Given the description of an element on the screen output the (x, y) to click on. 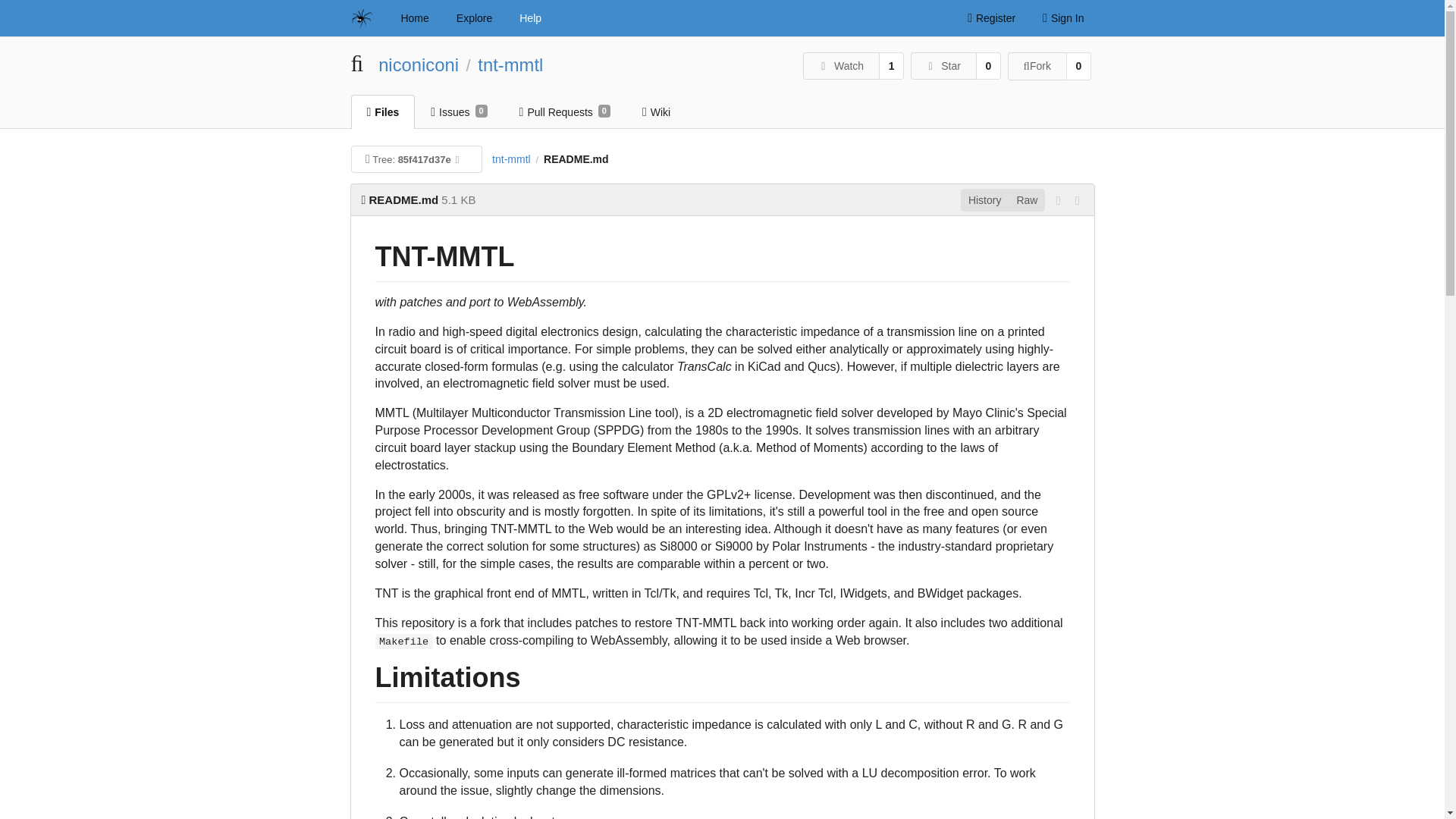
Explore (474, 18)
niconiconi (418, 64)
Raw (564, 111)
tnt-mmtl (1027, 200)
Star (510, 64)
0 (943, 65)
1 (1077, 66)
Watch (891, 65)
